Given the description of an element on the screen output the (x, y) to click on. 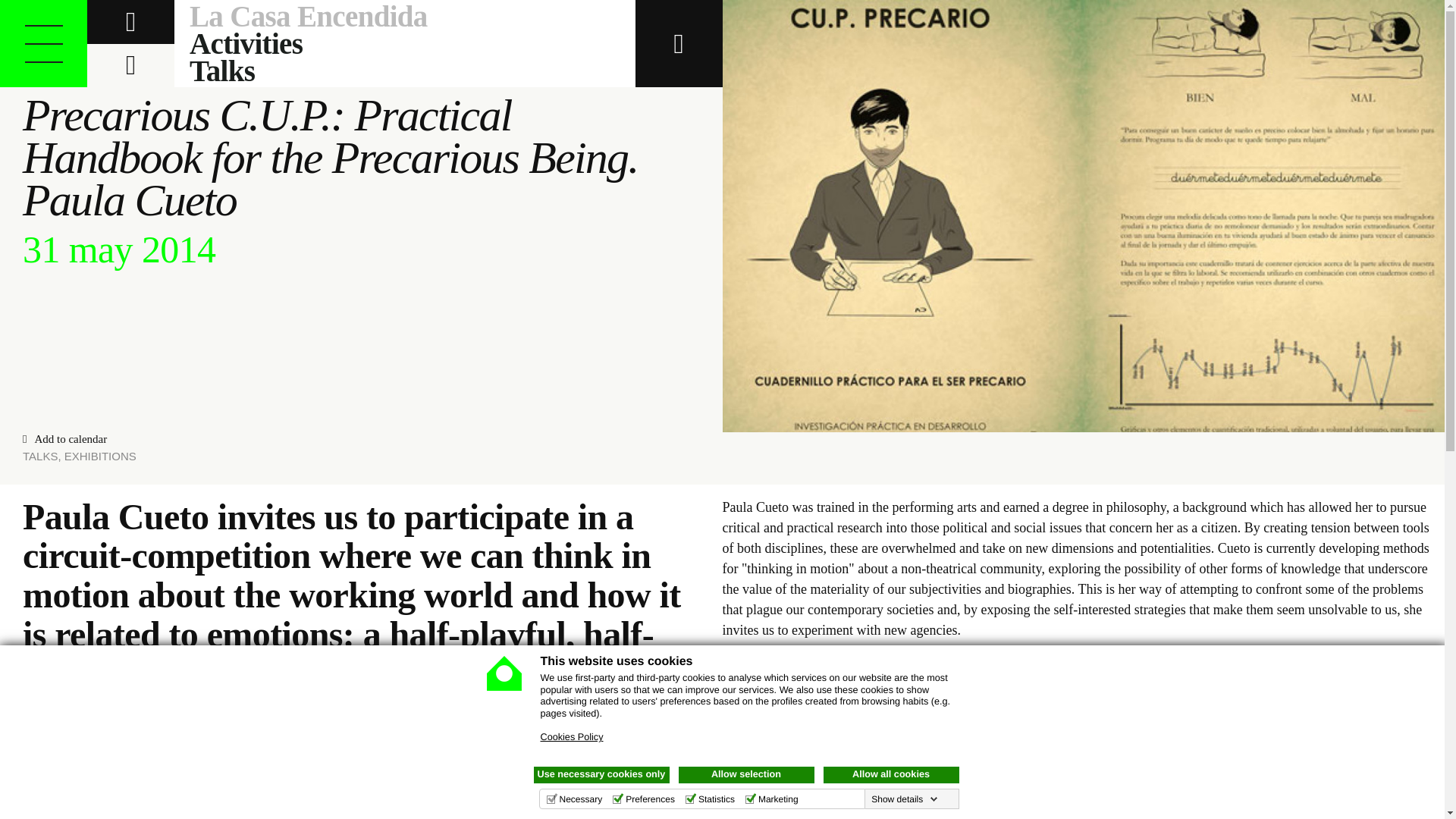
Allow all cookies (891, 774)
Show details (903, 799)
Allow selection (745, 774)
Use necessary cookies only (601, 774)
Cookies Policy (571, 737)
